Given the description of an element on the screen output the (x, y) to click on. 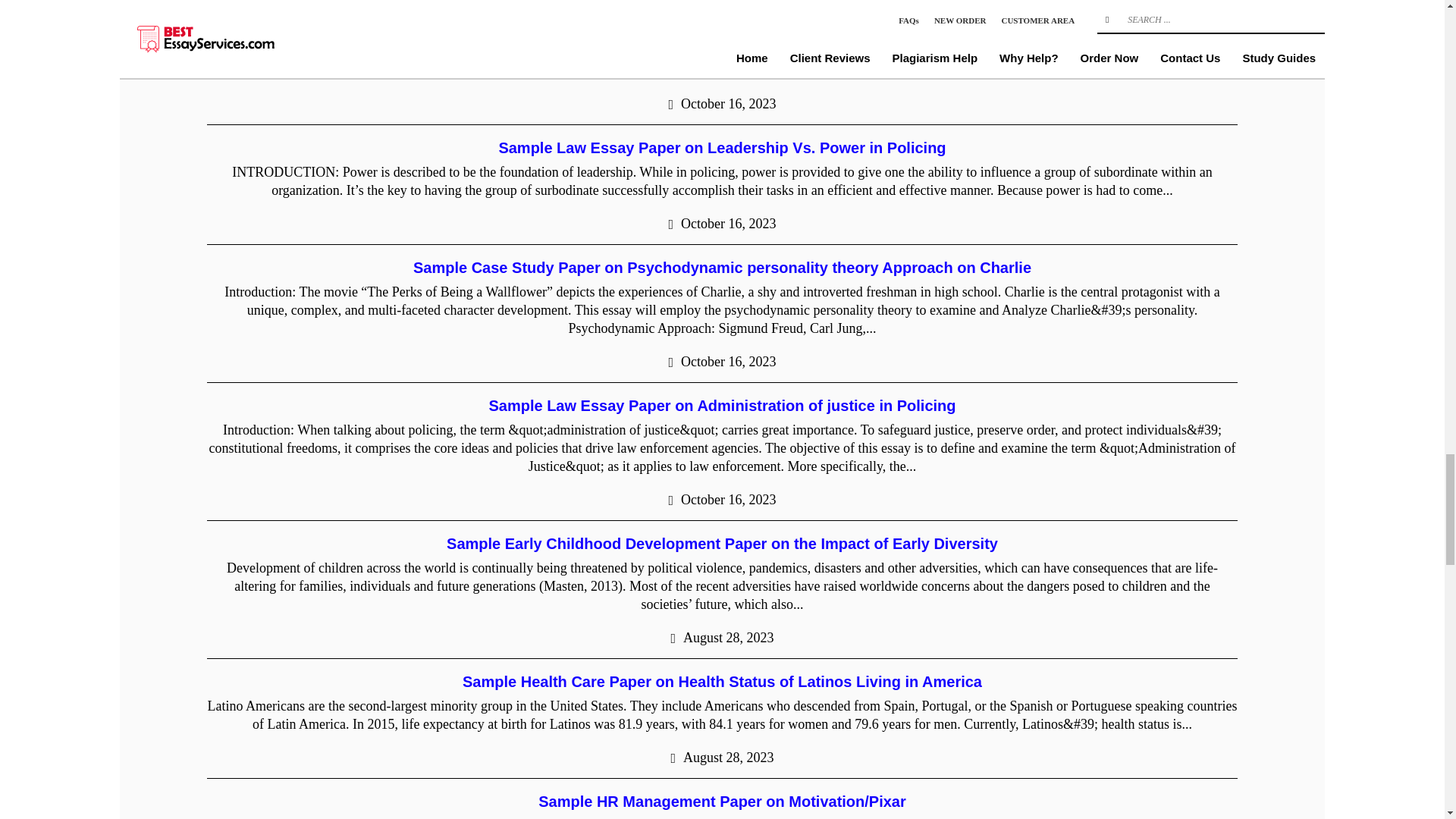
Sample Law Essay Paper on Leadership Vs. Power in Policing (720, 147)
